Given the description of an element on the screen output the (x, y) to click on. 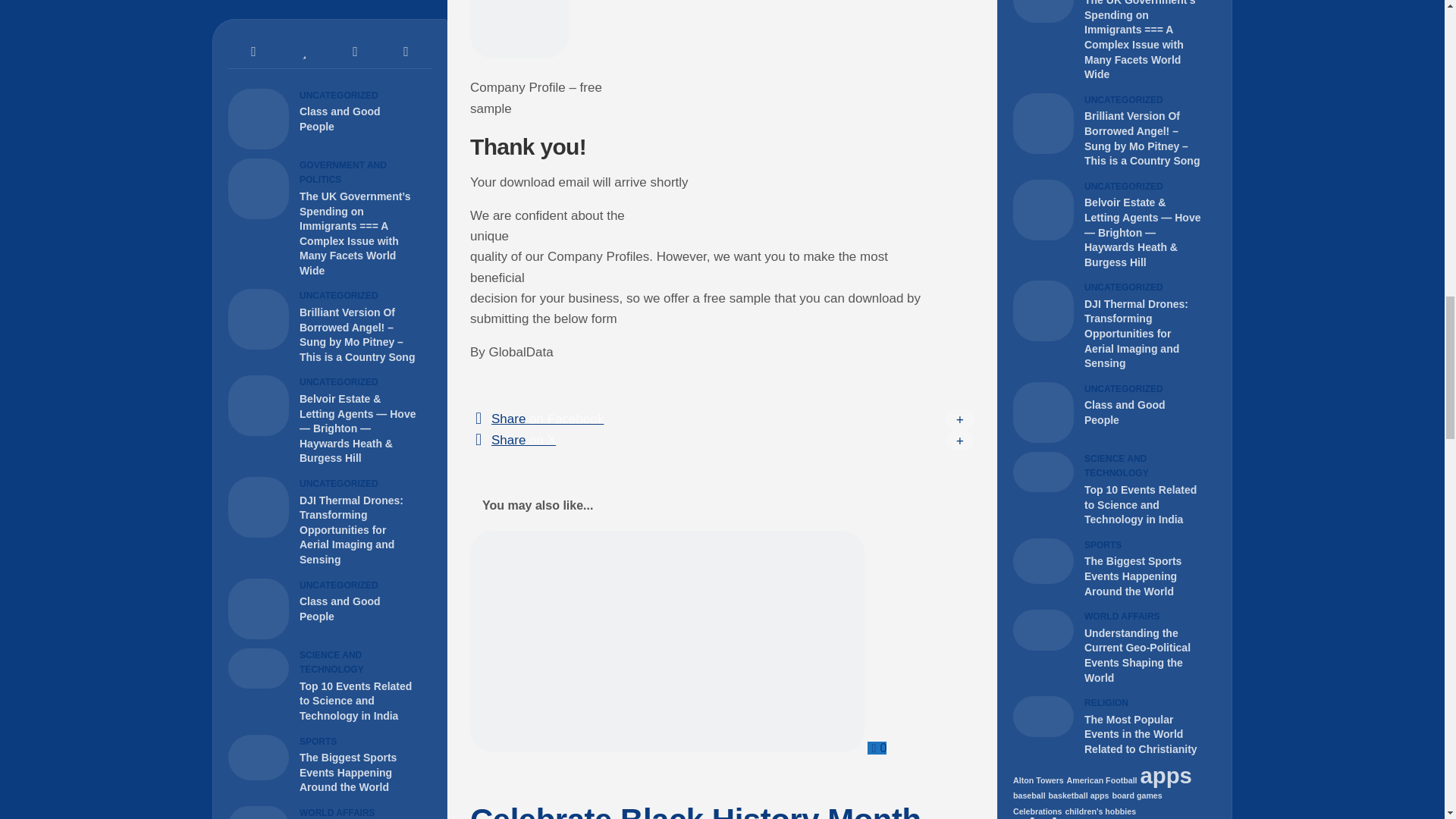
Recent Comments (355, 51)
Share on X (722, 439)
Popular Posts (304, 51)
Recent Posts (253, 51)
Share on Facebook (722, 418)
Tags (405, 51)
